Given the description of an element on the screen output the (x, y) to click on. 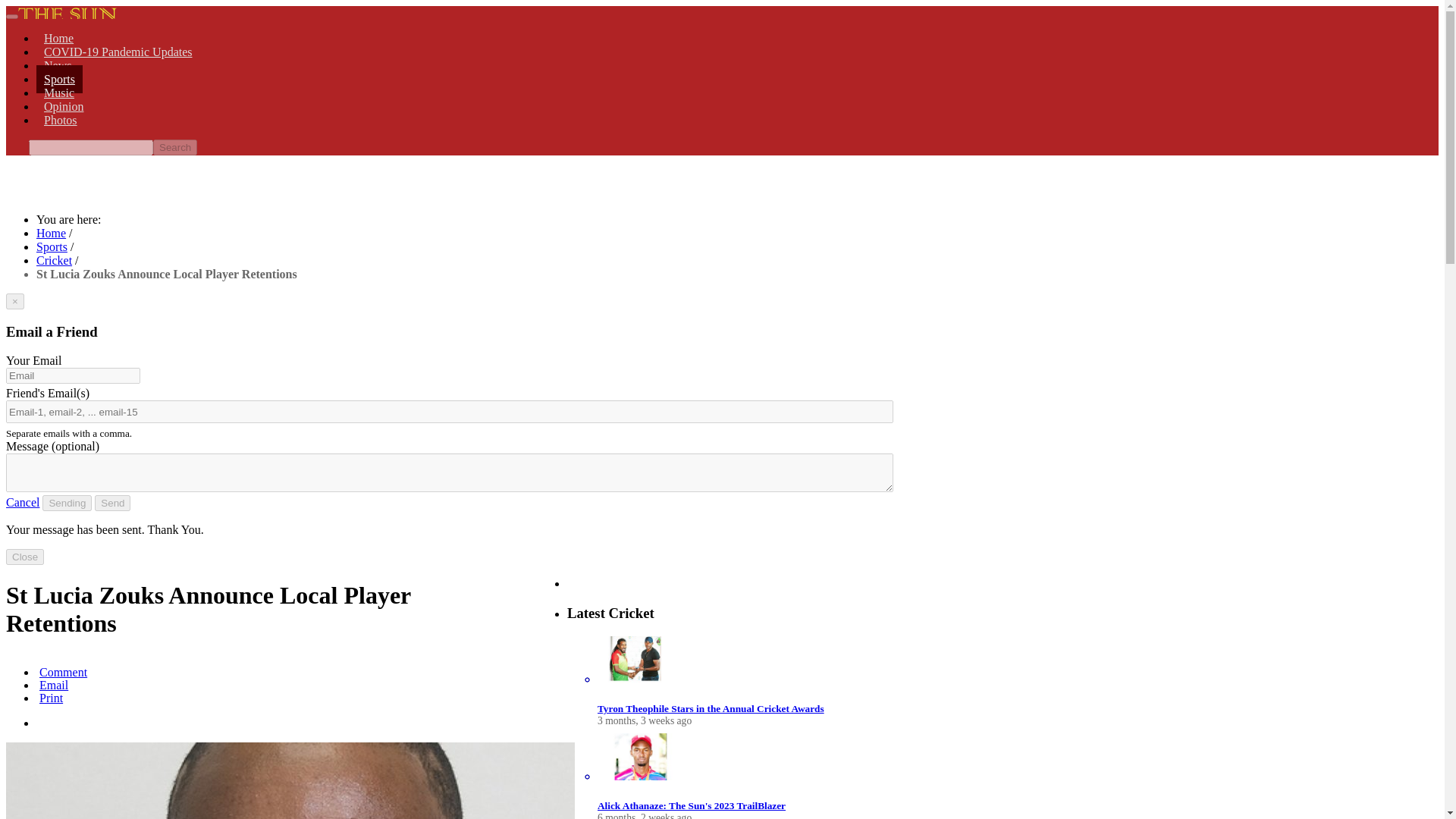
Home (58, 38)
Music (58, 92)
Send (112, 503)
Print (49, 697)
Cancel (22, 502)
Search (174, 147)
News (57, 65)
Sports (59, 79)
Photos (60, 120)
Alick Athanaze: The Sun's 2023 TrailBlazer (691, 805)
Kavem Hodge, Dominican cricketer (290, 780)
Sports (51, 246)
Home (50, 232)
COVID-19 Pandemic Updates (118, 51)
Cricket (53, 259)
